Given the description of an element on the screen output the (x, y) to click on. 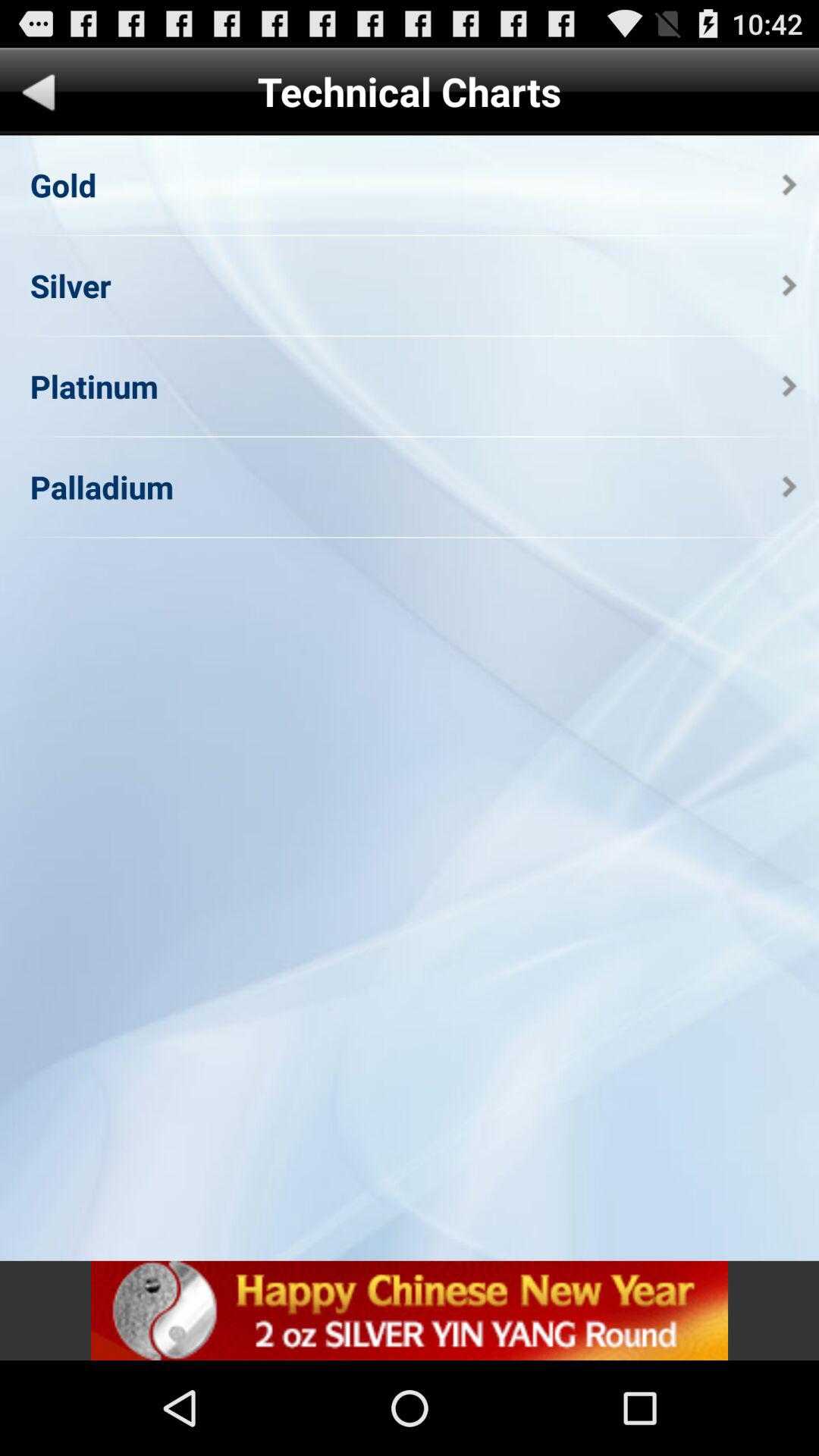
go to previous (39, 95)
